Given the description of an element on the screen output the (x, y) to click on. 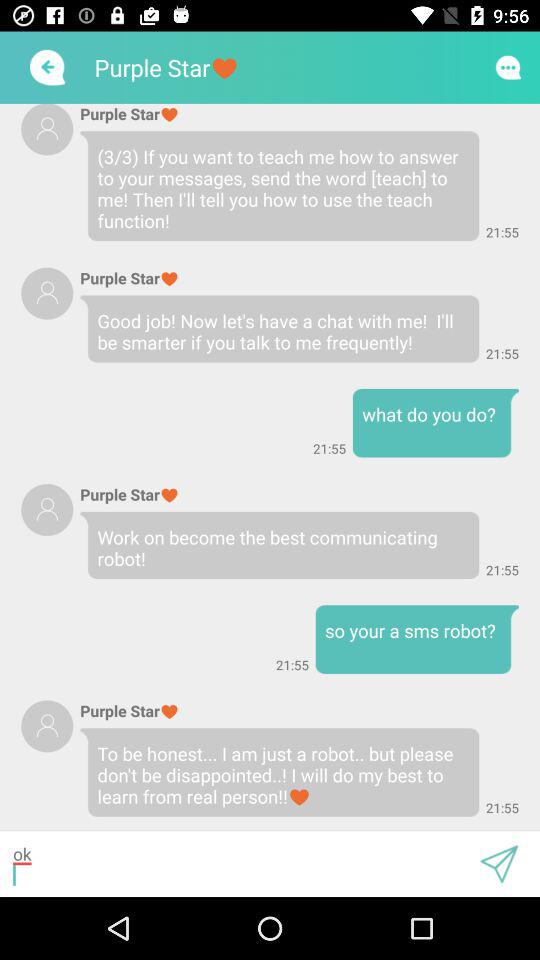
profile image icon (47, 509)
